Given the description of an element on the screen output the (x, y) to click on. 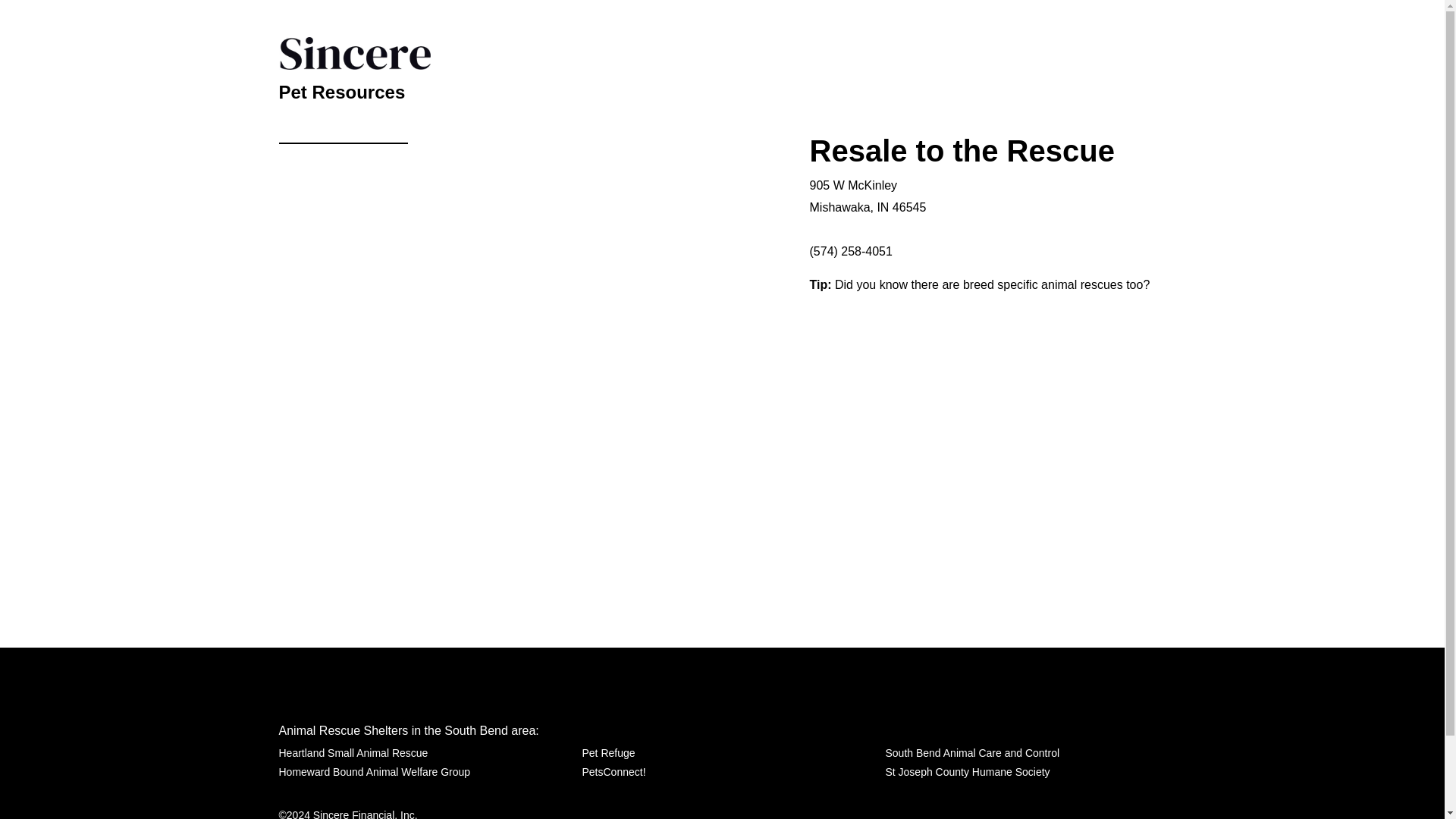
St Joseph County Humane Society (967, 772)
Pet Refuge (607, 752)
Pet Resources (342, 89)
Homeward Bound Animal Welfare Group (374, 772)
South Bend Animal Care and Control (972, 752)
PetsConnect! (612, 772)
Heartland Small Animal Rescue (353, 752)
Animal Rescue Shelters in the South Bend area: (408, 730)
